Given the description of an element on the screen output the (x, y) to click on. 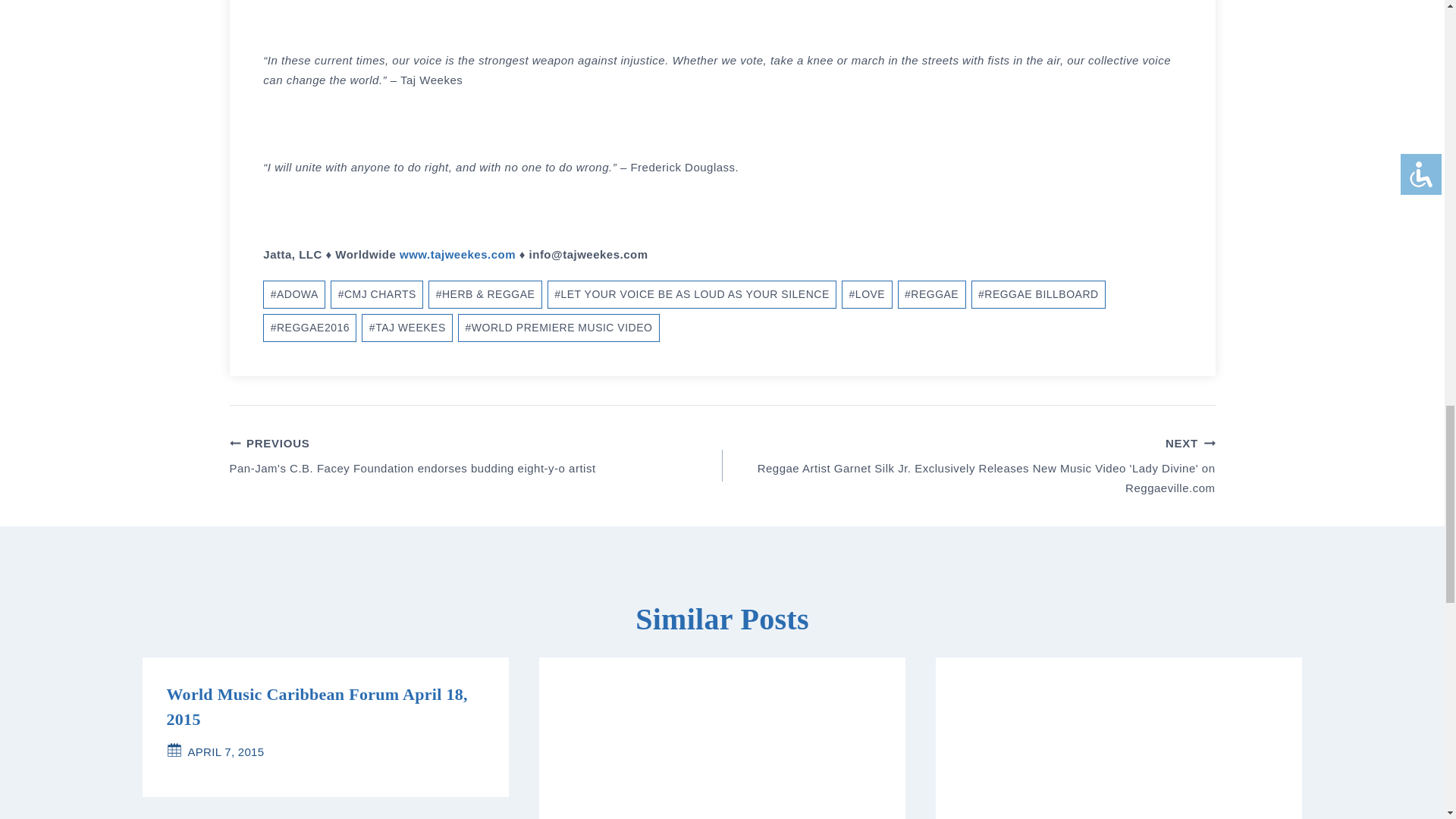
love (866, 294)
Let your voice be as loud as your silence (691, 294)
WORLD PREMIERE MUSIC VIDEO (558, 327)
reggae2016 (309, 327)
reggae (932, 294)
Reggae Billboard (1038, 294)
World Music Caribbean Forum April 18, 2015 (317, 706)
Adowa (293, 294)
Taj Weekes (406, 327)
CMJ charts (376, 294)
www.tajweekes.com (456, 254)
